Given the description of an element on the screen output the (x, y) to click on. 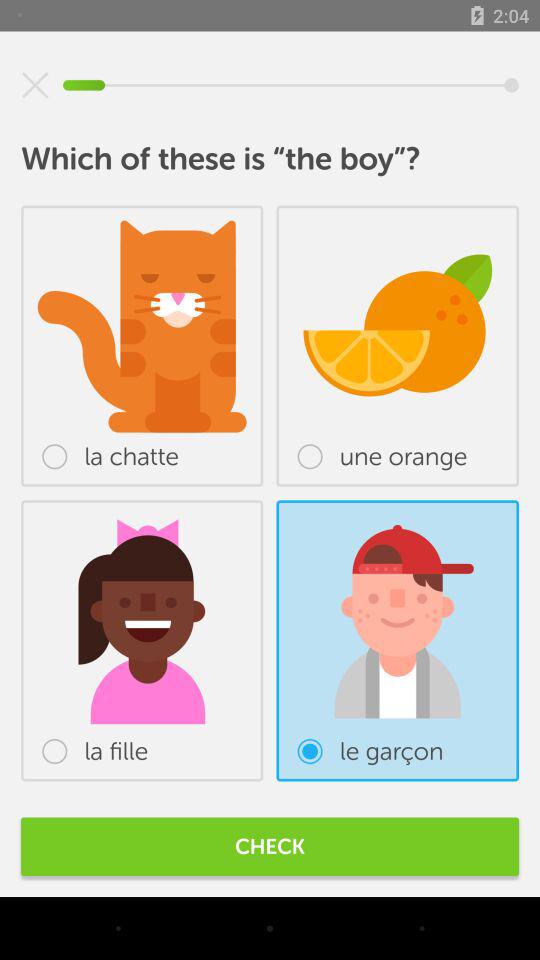
close (35, 85)
